Given the description of an element on the screen output the (x, y) to click on. 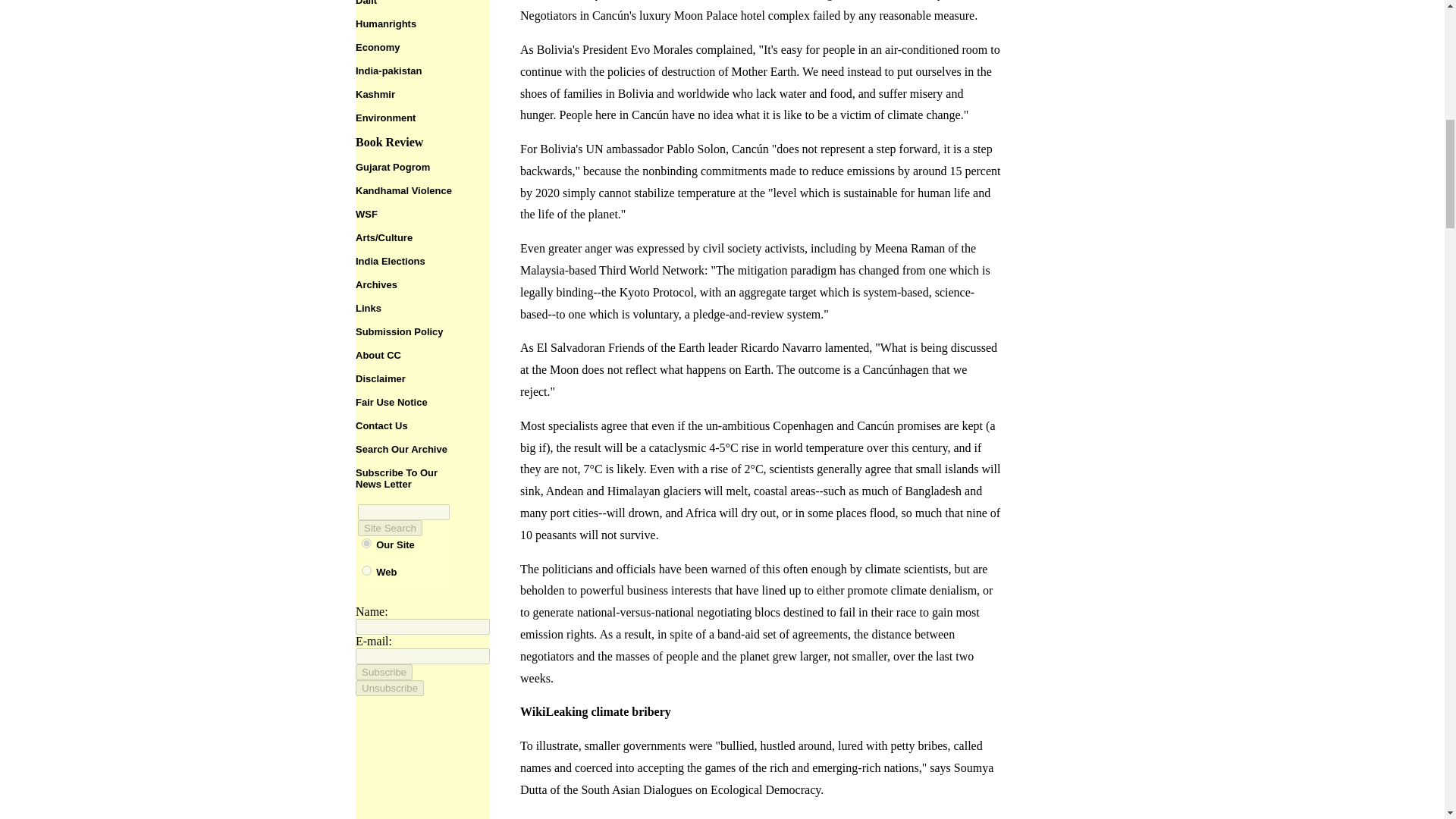
Subscribe (383, 672)
Unsubscribe (389, 688)
Kashmir (374, 93)
Economy (377, 47)
Site Search (390, 528)
Humanrights (385, 23)
Environment (384, 117)
India-pakistan (388, 70)
Dalit (366, 2)
Kandhamal Violence (403, 189)
Gujarat Pogrom (392, 165)
Book Review (389, 141)
